Given the description of an element on the screen output the (x, y) to click on. 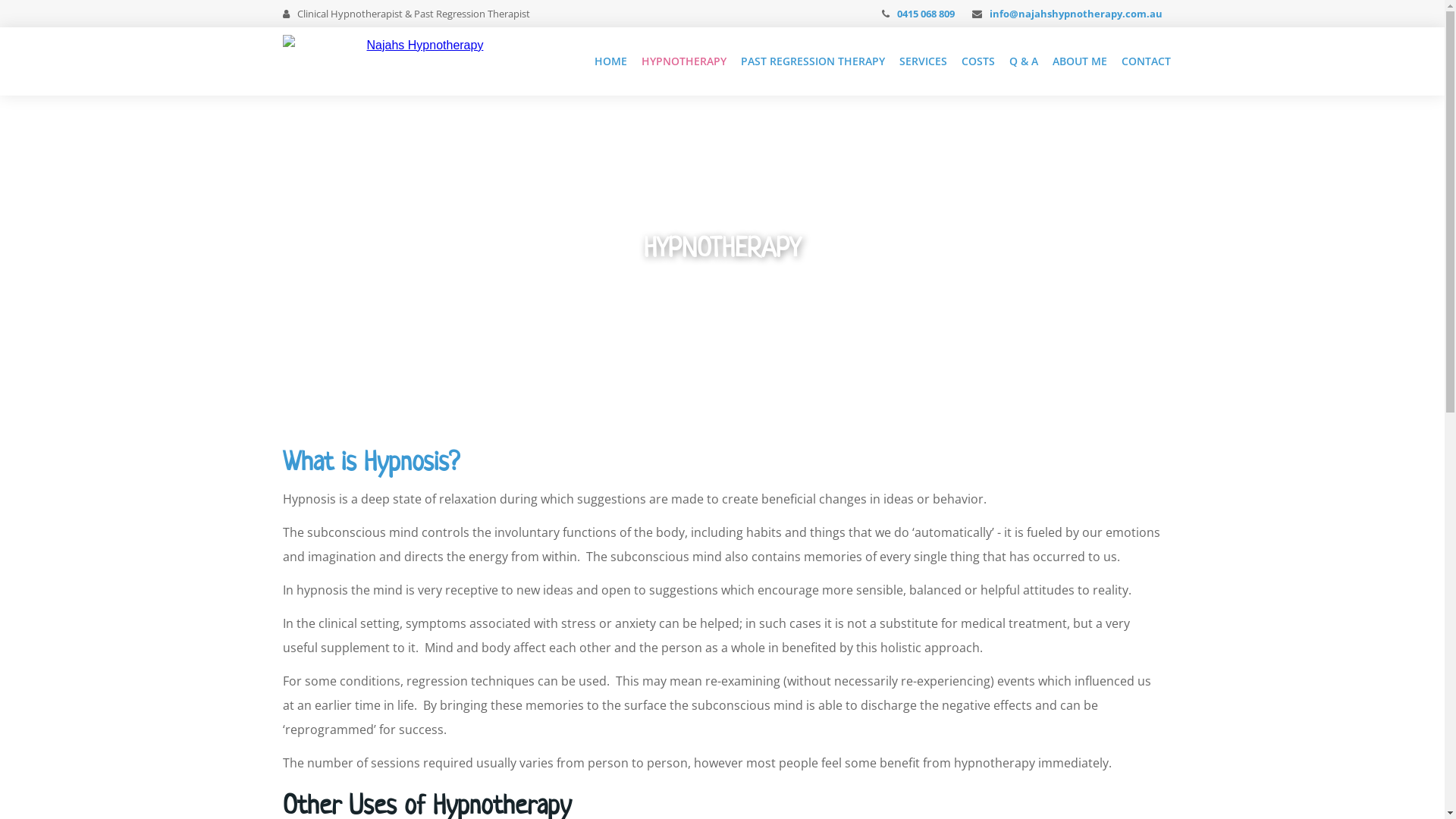
PAST REGRESSION THERAPY Element type: text (812, 61)
Q & A Element type: text (1023, 61)
0415 068 809 Element type: text (924, 13)
SERVICES Element type: text (923, 61)
info@najahshypnotherapy.com.au Element type: text (1074, 13)
COSTS Element type: text (978, 61)
ABOUT ME Element type: text (1079, 61)
HOME Element type: text (610, 61)
CONTACT Element type: text (1145, 61)
HYPNOTHERAPY Element type: text (683, 61)
